Given the description of an element on the screen output the (x, y) to click on. 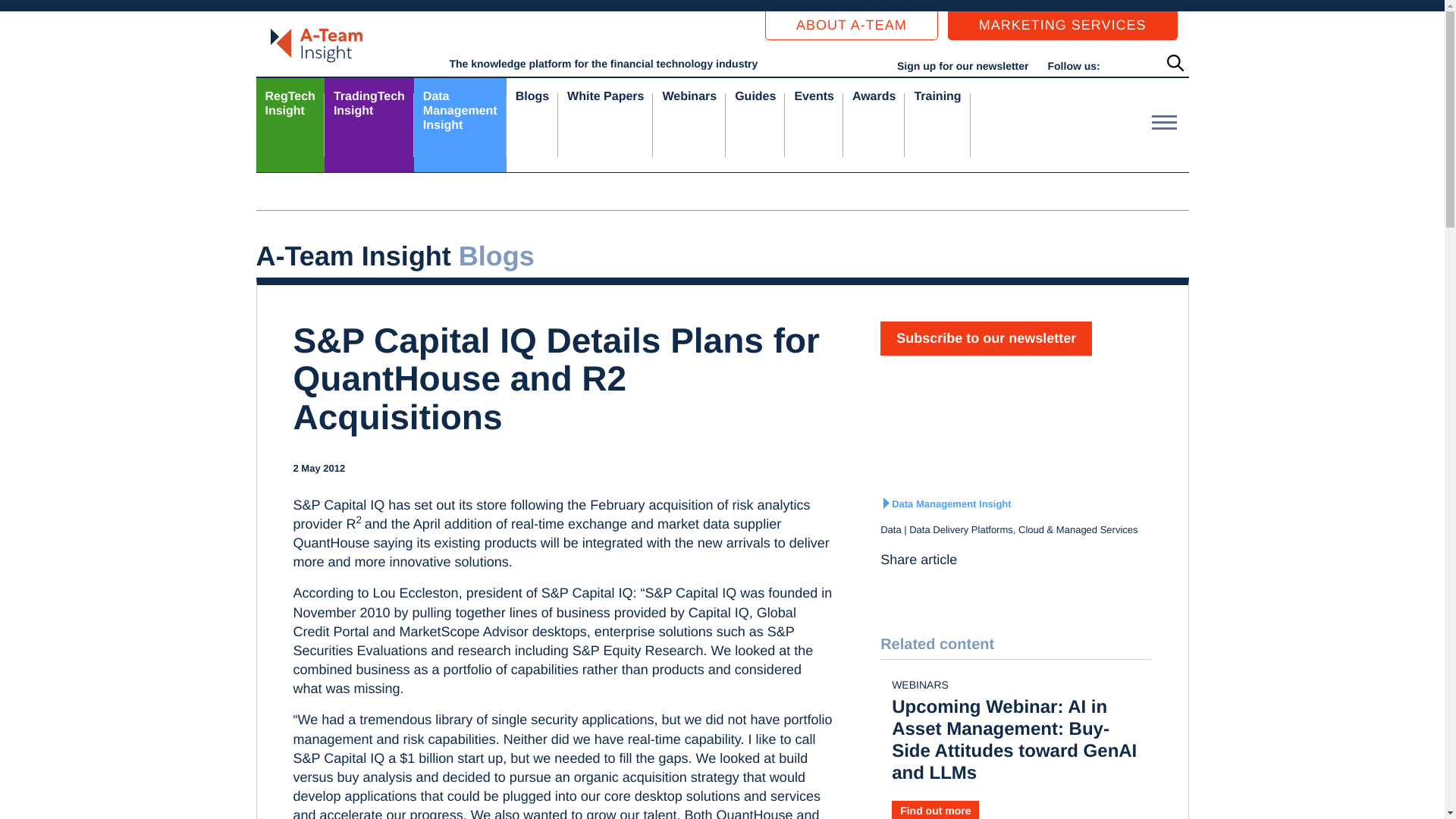
MARKETING SERVICES (1062, 25)
X (916, 586)
ABOUT A-TEAM (851, 25)
Facebook (940, 586)
Email (964, 586)
Sign up for our newsletter (368, 124)
LinkedIn (961, 65)
